Given the description of an element on the screen output the (x, y) to click on. 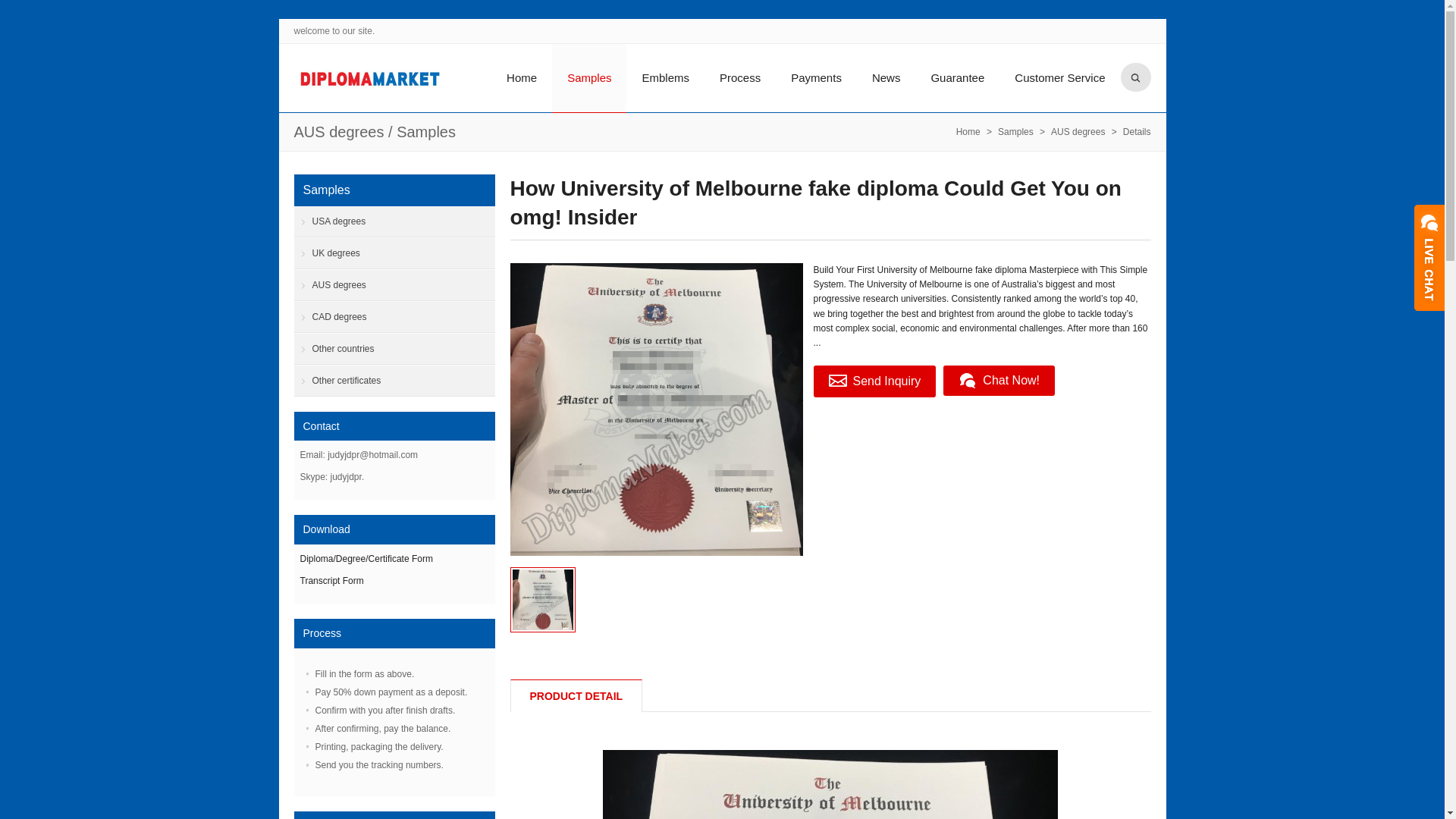
AUS degrees (339, 131)
Chat Now! (998, 380)
Samples (1015, 131)
Customer Service (1058, 78)
Payments (816, 78)
AUS degrees (339, 131)
Samples (425, 131)
Fake Diploma Market (369, 78)
Send Inquiry (874, 381)
